Given the description of an element on the screen output the (x, y) to click on. 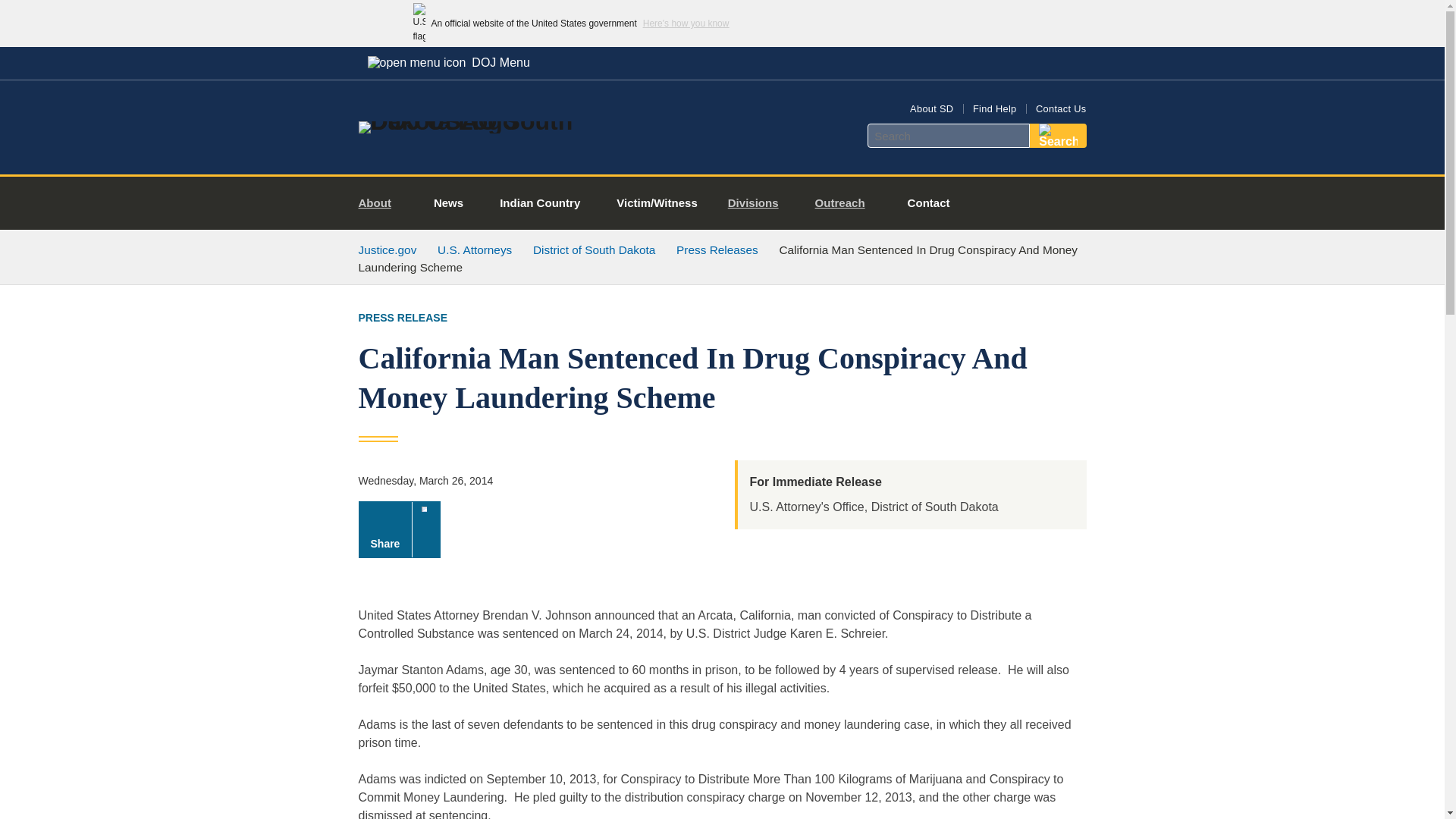
Outreach (846, 203)
DOJ Menu (448, 62)
News (447, 203)
Here's how you know (686, 23)
Contact Us (1060, 108)
About (380, 203)
U.S. Attorneys (475, 249)
Indian Country (539, 203)
Justice.gov (387, 249)
Find Help (994, 108)
Home (481, 121)
Contact (928, 203)
About SD (931, 108)
District of South Dakota (593, 249)
Share (398, 529)
